Given the description of an element on the screen output the (x, y) to click on. 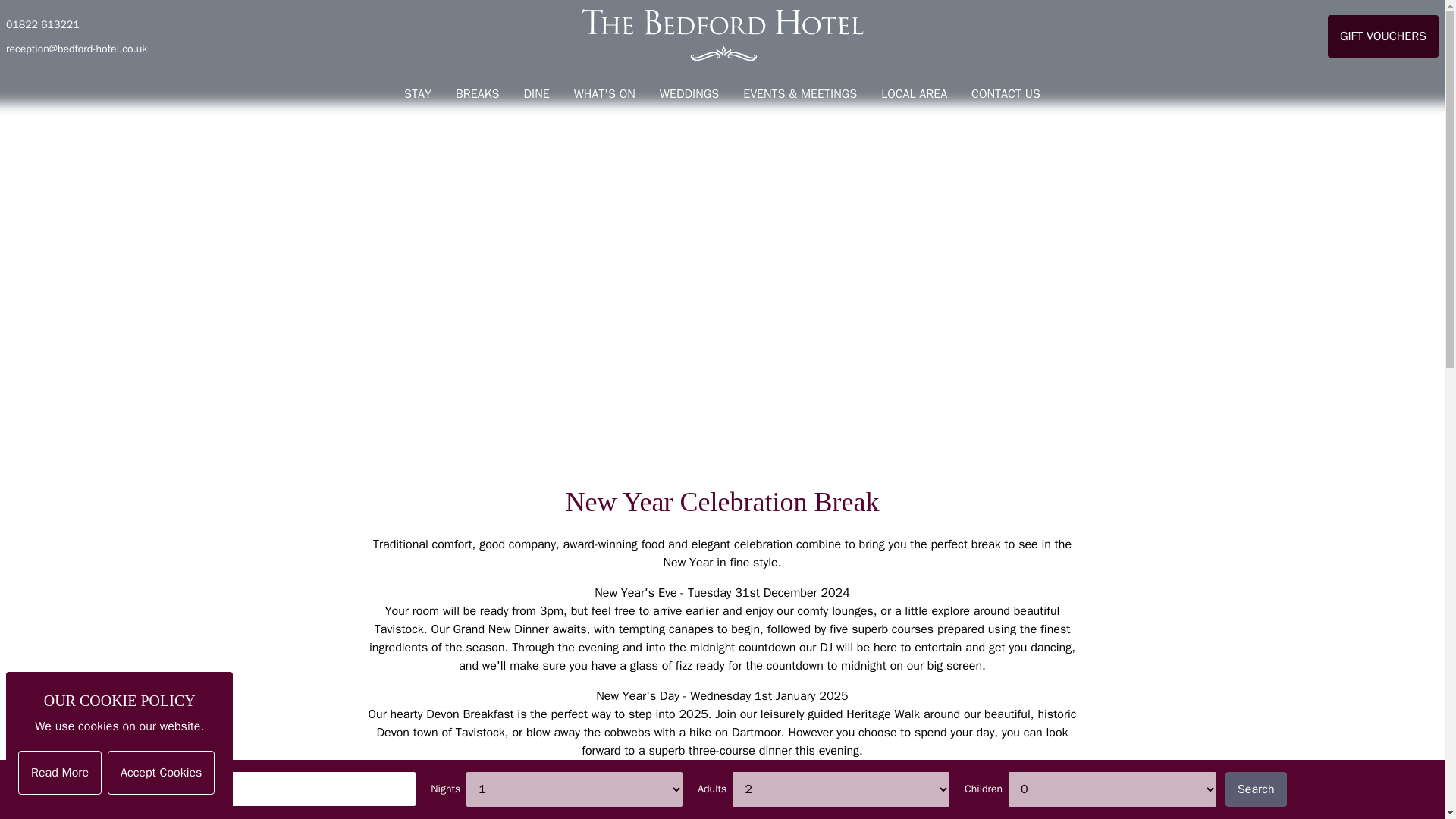
Home Page (721, 35)
CONTACT US (1005, 93)
LOCAL AREA (914, 93)
Call us (42, 24)
WEDDINGS (688, 93)
GIFT VOUCHERS (1382, 36)
Email us (76, 48)
STAY (417, 93)
WHAT'S ON (604, 93)
DINE (535, 93)
